Given the description of an element on the screen output the (x, y) to click on. 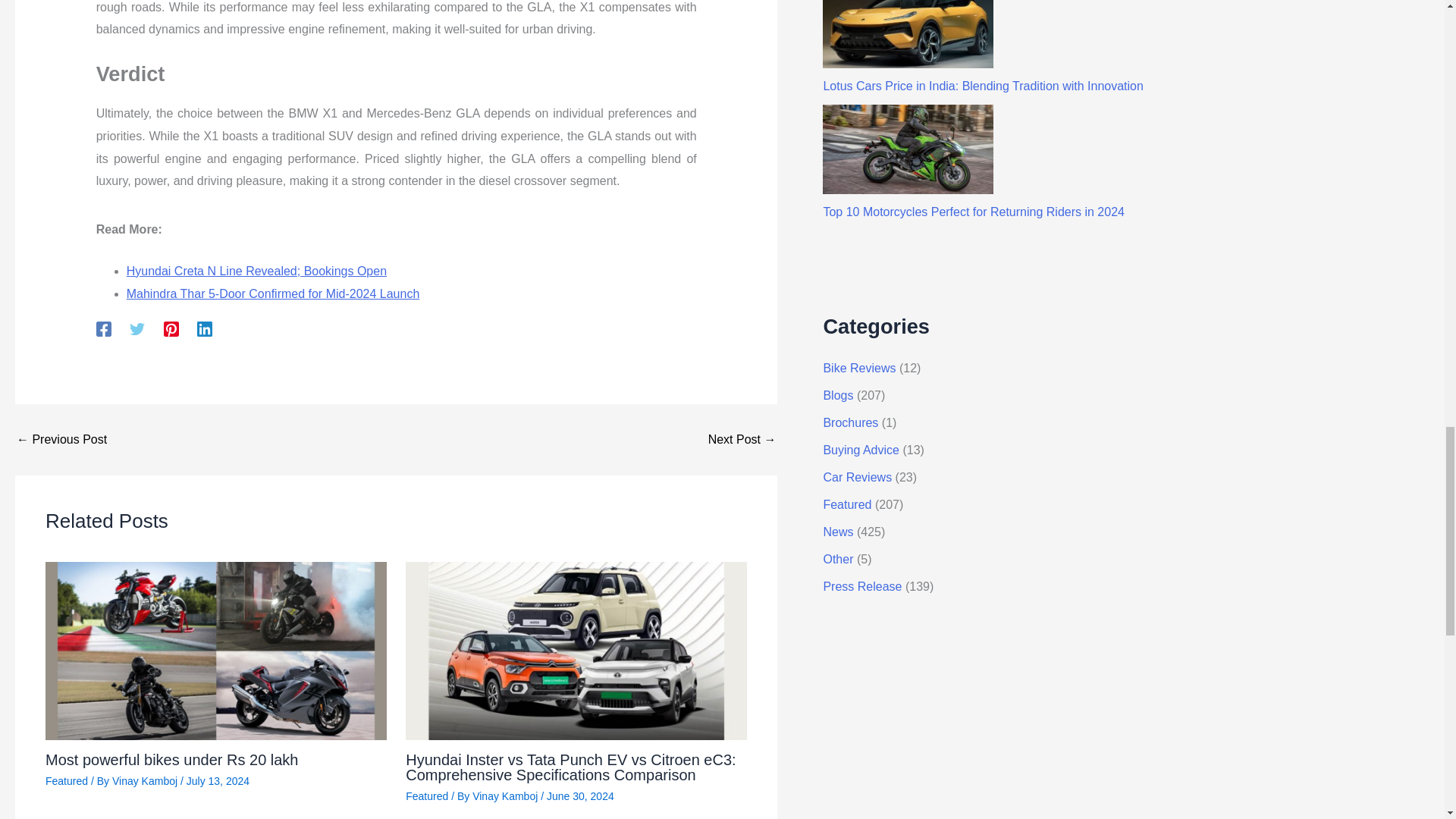
Most powerful bikes under Rs 20 lakh (171, 759)
View all posts by Vinay Kamboj (146, 780)
Hyundai Creta N Line Revealed; Bookings Open (61, 439)
View all posts by Vinay Kamboj (505, 796)
Featured (66, 780)
Hyundai Creta N Line Revealed; Bookings Open (256, 270)
Mahindra Thar 5-Door Confirmed for Mid-2024 Launch (273, 292)
Vinay Kamboj (146, 780)
